Given the description of an element on the screen output the (x, y) to click on. 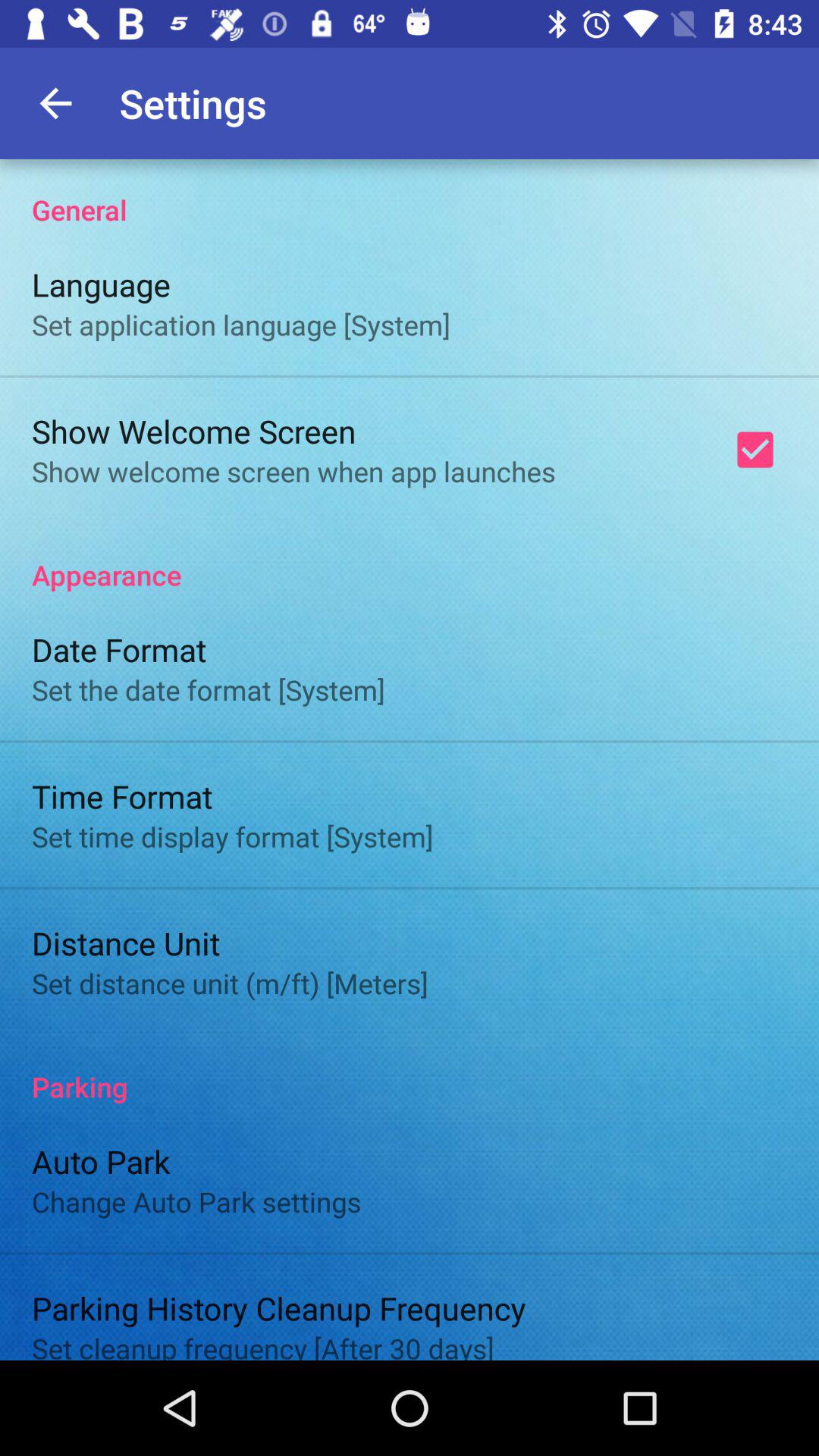
click for more informations (409, 759)
